Given the description of an element on the screen output the (x, y) to click on. 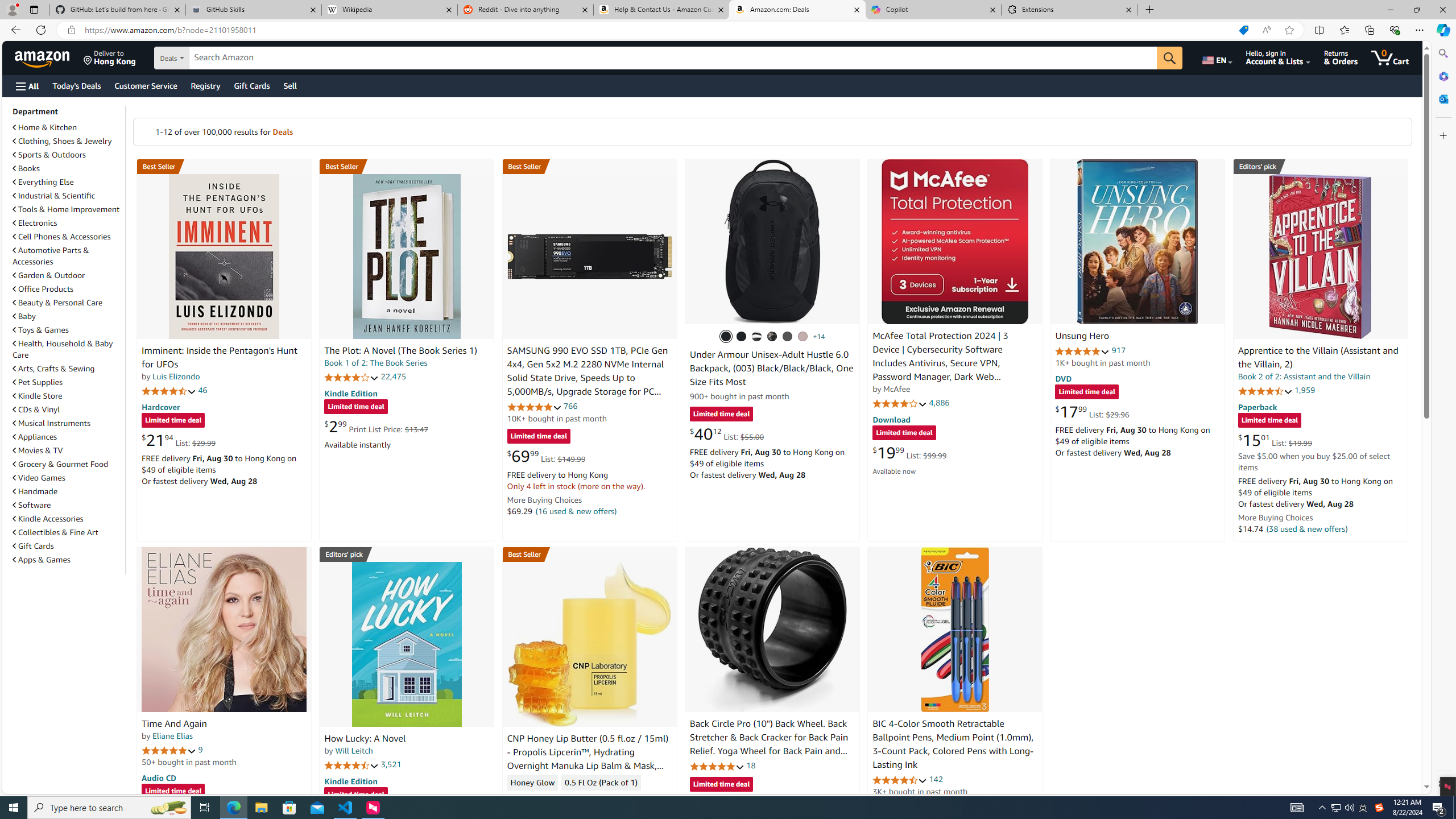
$21.94 List: $29.99 (178, 439)
Sports & Outdoors (49, 154)
Garden & Outdoor (67, 274)
Cell Phones & Accessories (61, 236)
Favorites (1344, 29)
(001) Black / Black / Metallic Gold (741, 336)
Returns & Orders (1340, 57)
(004) Black / Black / Metallic Gold (772, 336)
Amazon (43, 57)
Gift Cards (67, 546)
(003) Black / Black / Black (725, 336)
Baby (67, 315)
$2.99 Print List Price: $13.47 (376, 426)
Extensions (1068, 9)
